Given the description of an element on the screen output the (x, y) to click on. 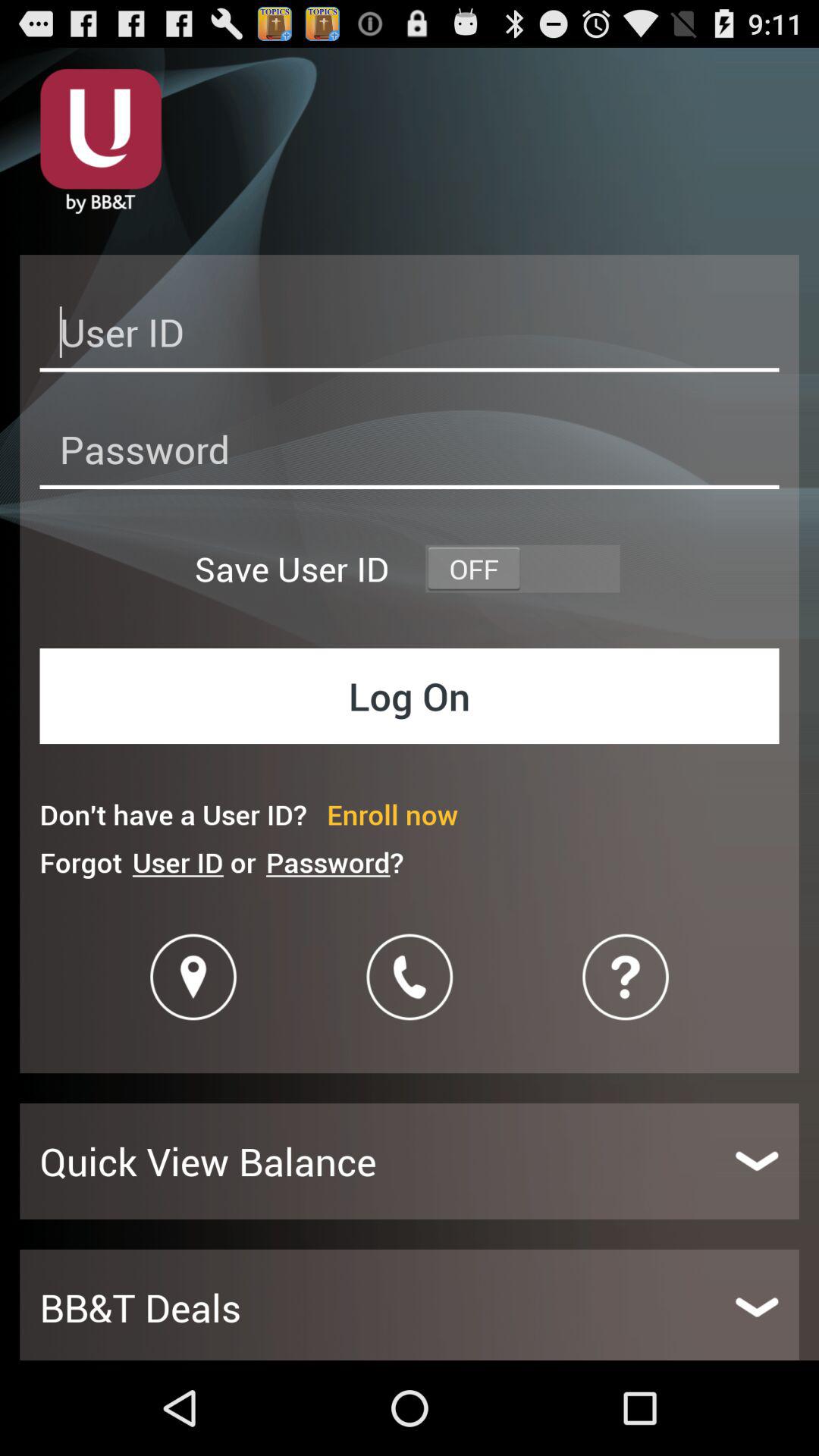
type user id (409, 336)
